Given the description of an element on the screen output the (x, y) to click on. 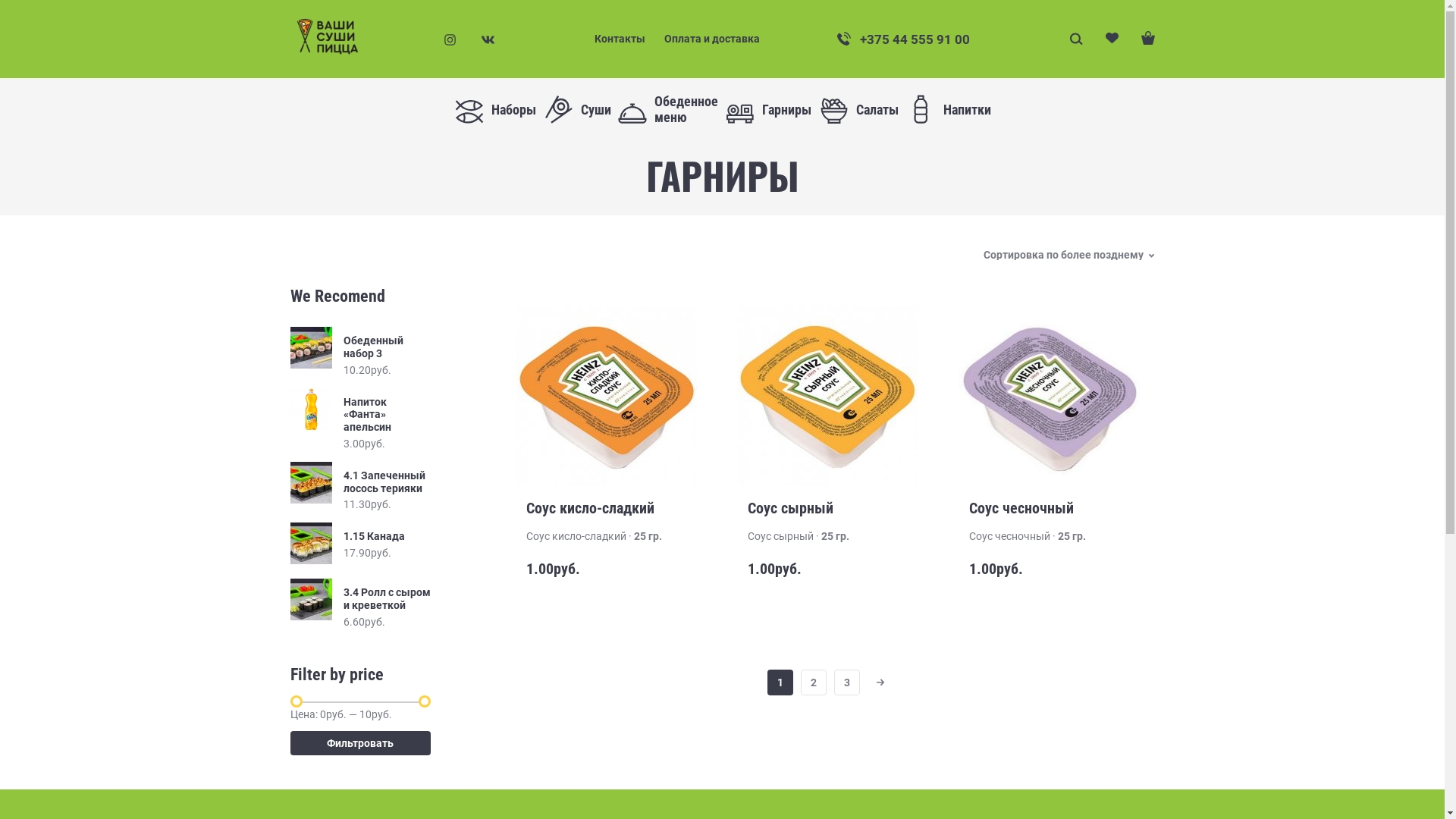
3 Element type: text (846, 682)
2 Element type: text (813, 682)
